Given the description of an element on the screen output the (x, y) to click on. 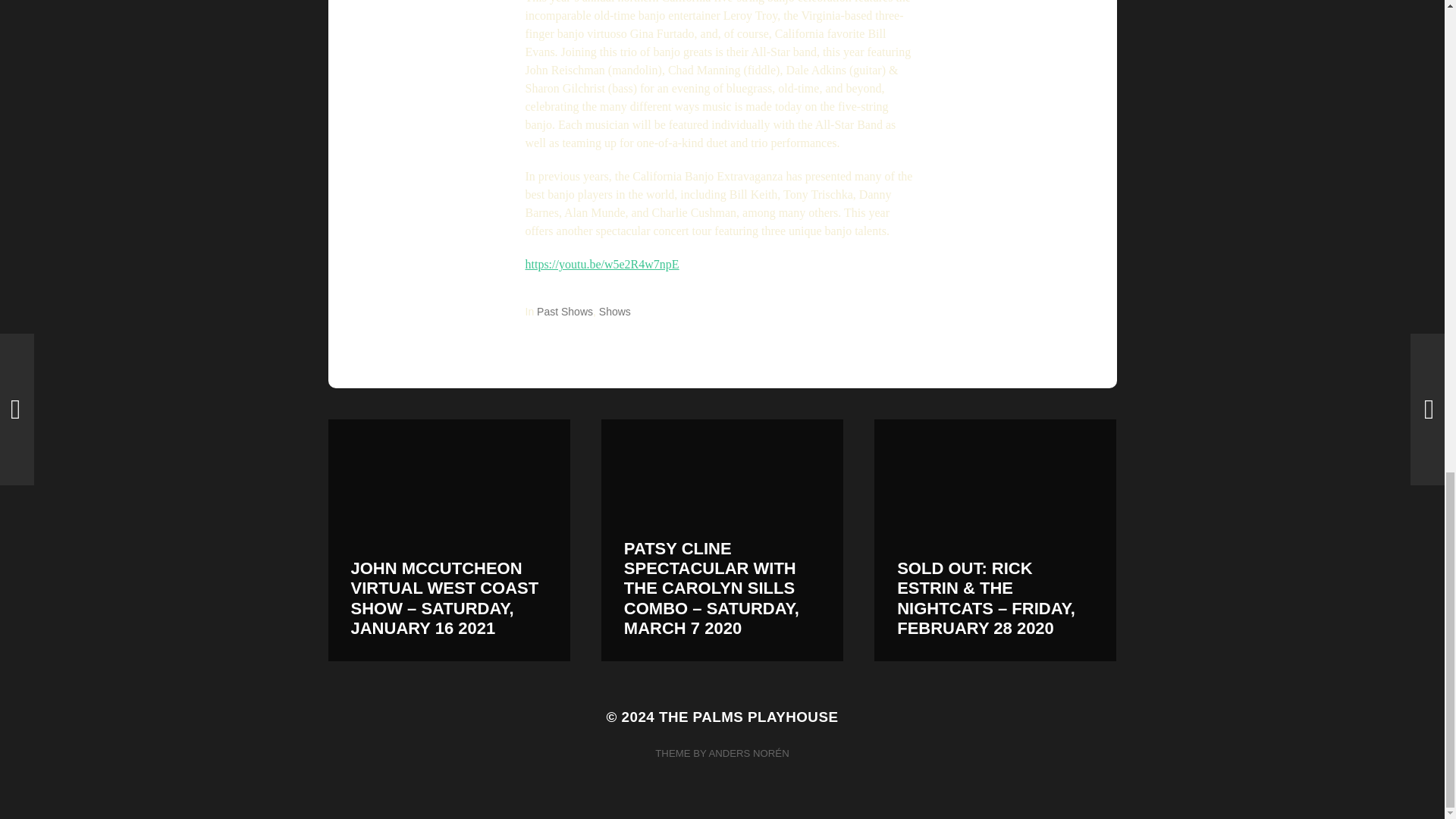
Past Shows (564, 311)
Shows (614, 311)
THE PALMS PLAYHOUSE (748, 716)
